Given the description of an element on the screen output the (x, y) to click on. 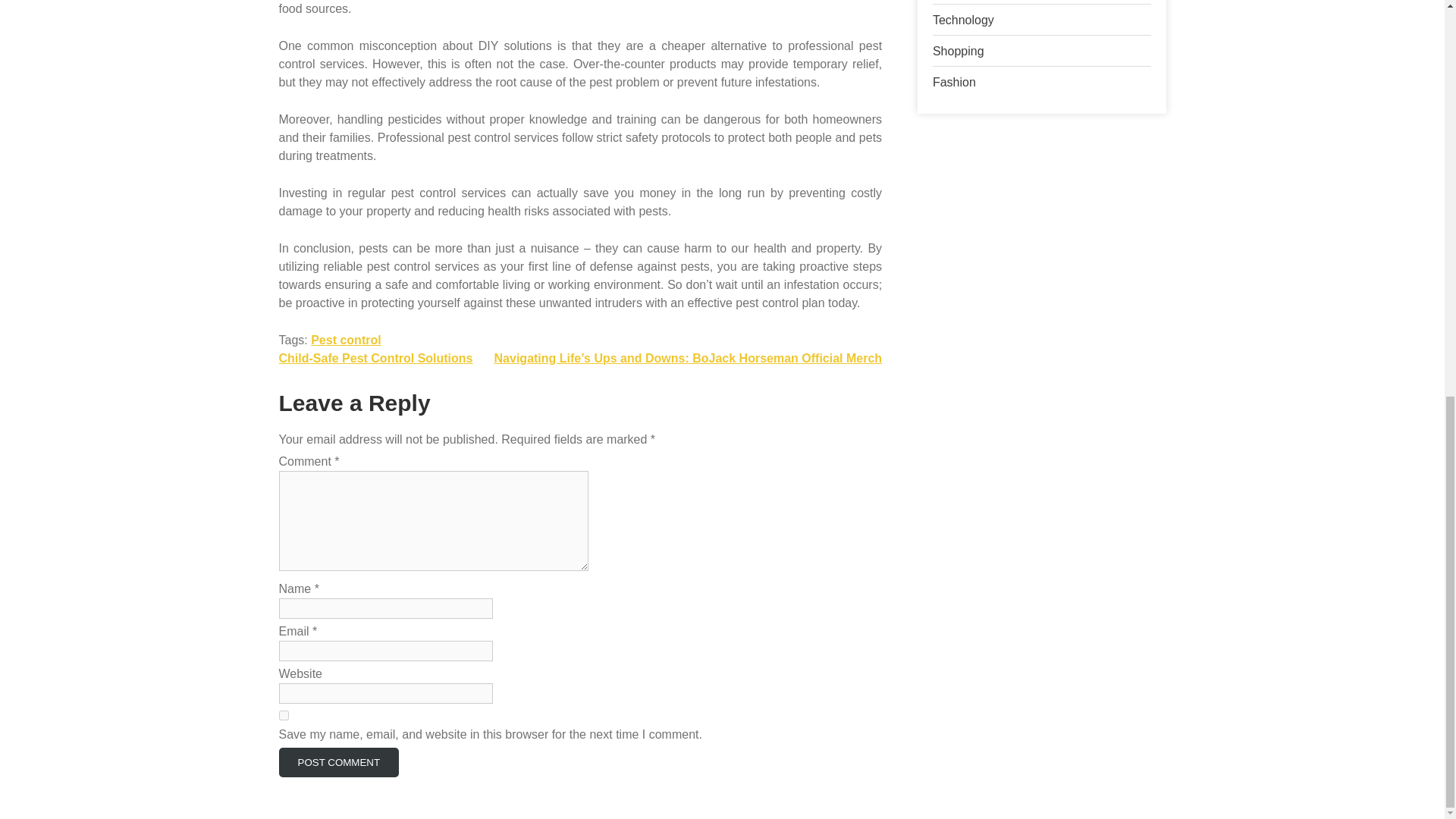
Child-Safe Pest Control Solutions (376, 358)
Shopping (958, 51)
Post Comment (338, 762)
yes (283, 715)
Pest control (345, 339)
Fashion (954, 82)
Post Comment (338, 762)
Technology (963, 19)
